Given the description of an element on the screen output the (x, y) to click on. 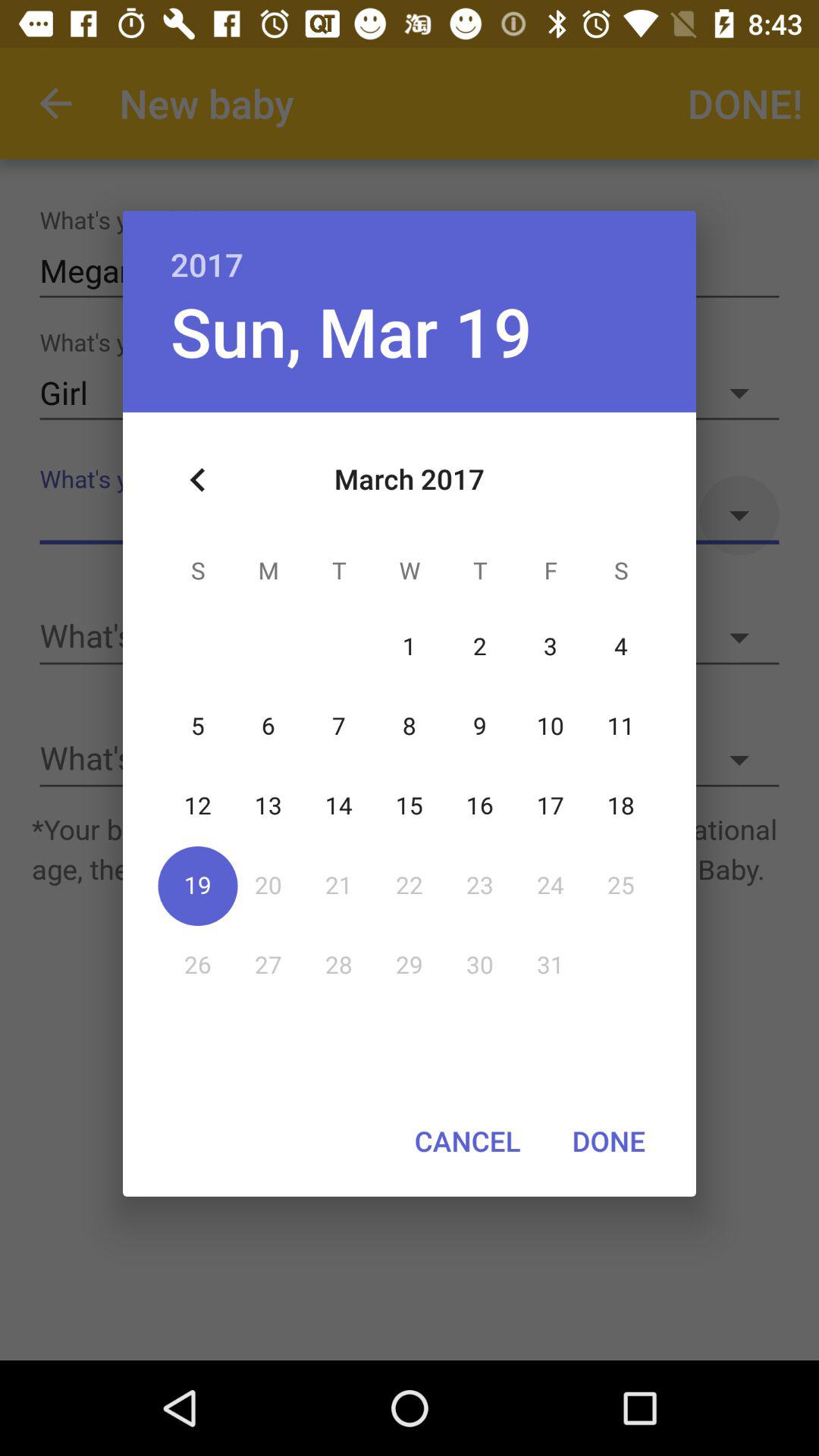
open cancel icon (467, 1140)
